Given the description of an element on the screen output the (x, y) to click on. 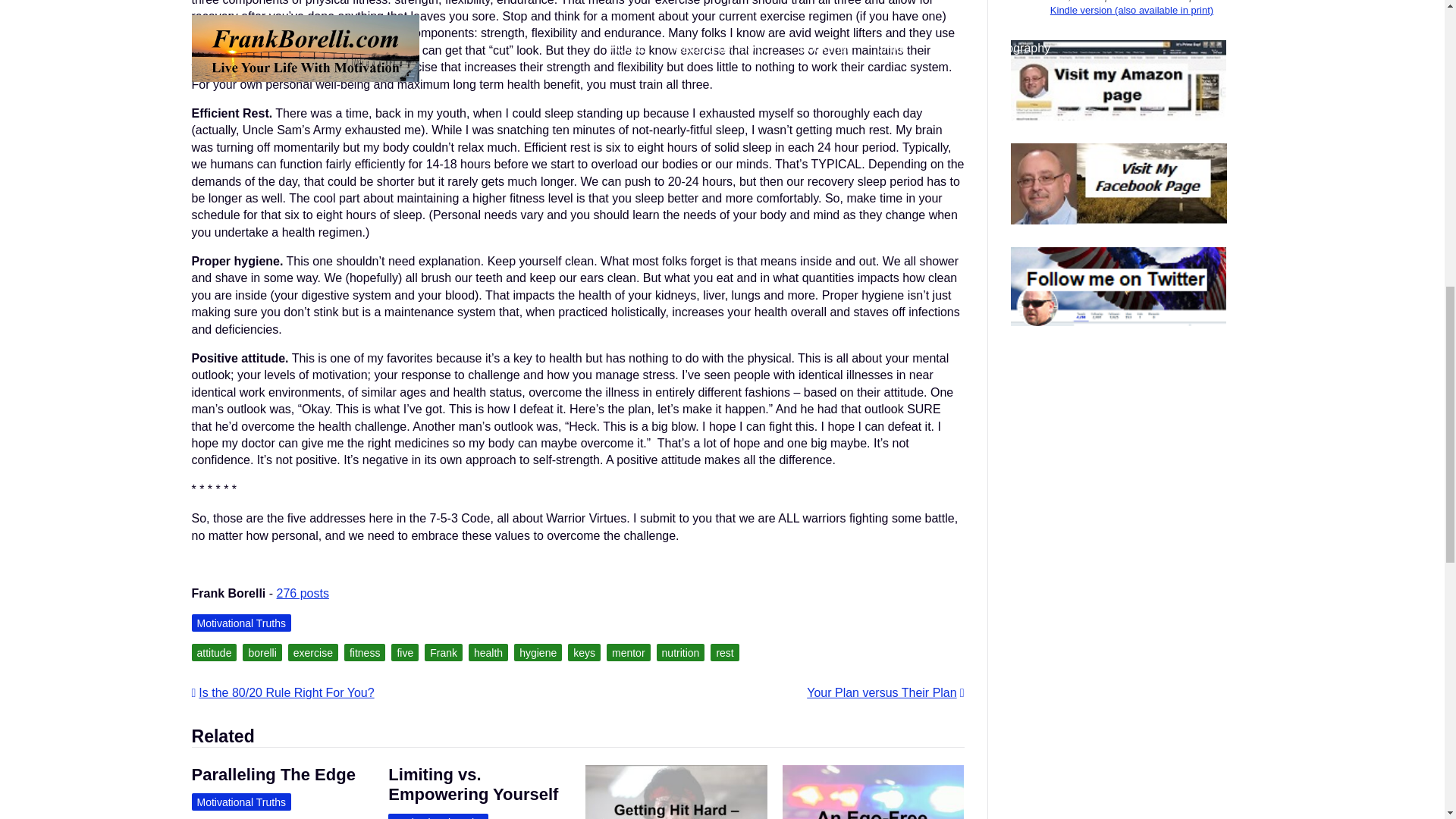
keys (583, 651)
276 posts (302, 593)
five (405, 651)
Paralleling The Edge (272, 773)
nutrition (680, 651)
Frank (444, 651)
health (488, 651)
attitude (212, 651)
Limiting vs. Empowering Yourself (472, 783)
Your Plan versus Their Plan (884, 692)
